Given the description of an element on the screen output the (x, y) to click on. 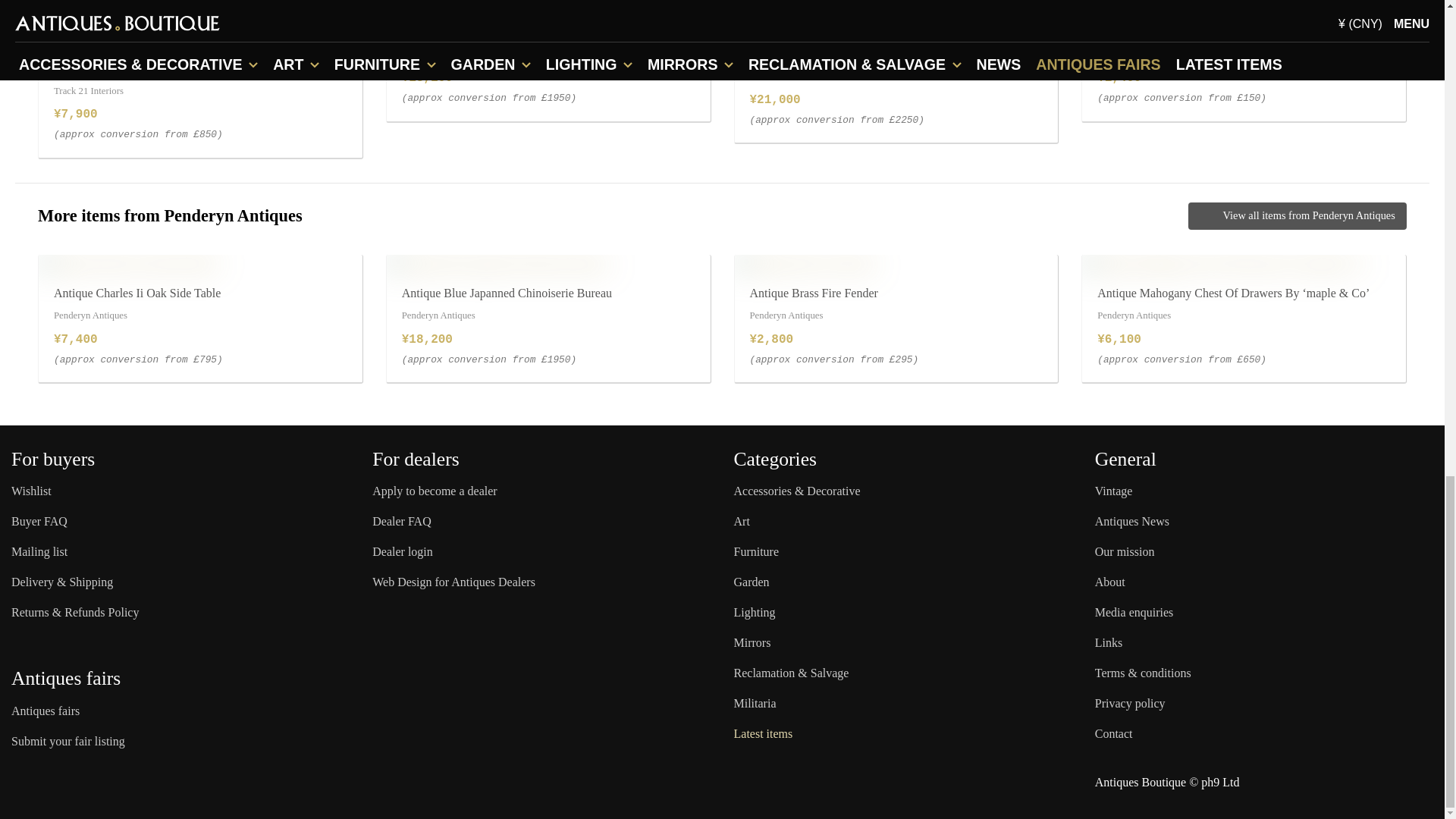
18th Century Welsh Oak Two Stage Bureau (151, 263)
Antique Oak Pig Bench (1145, 263)
Antique Pitch Pine Railway Station Bench (496, 263)
Antique Side Table With Inlaid Top (825, 263)
